Given the description of an element on the screen output the (x, y) to click on. 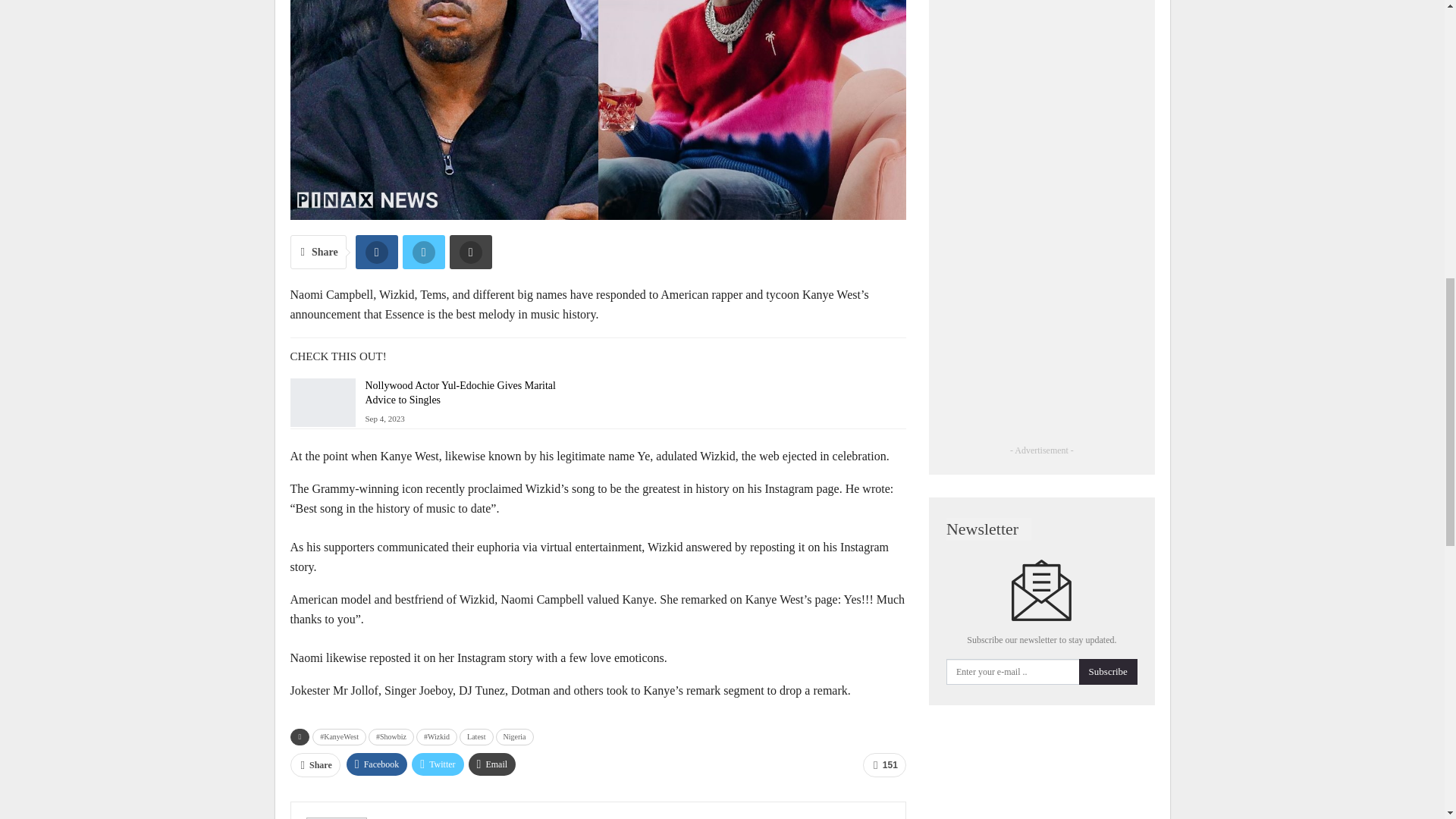
Nollywood Actor Yul-Edochie Gives Marital Advice to Singles (322, 402)
